Given the description of an element on the screen output the (x, y) to click on. 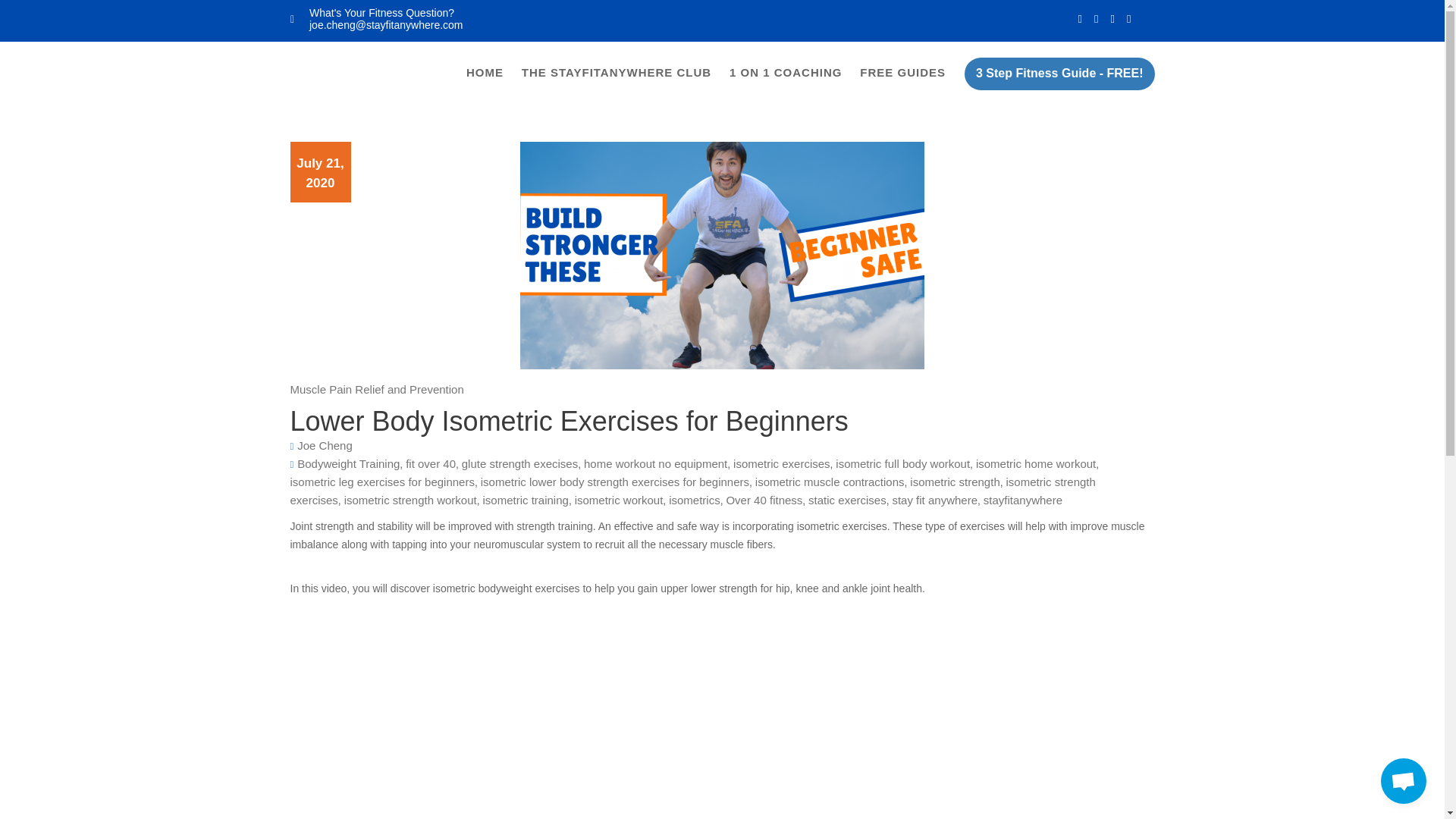
July 21, 2020 (320, 173)
FREE GUIDES (902, 72)
static exercises (847, 499)
isometric strength exercises (691, 490)
Over 40 fitness (763, 499)
isometrics (694, 499)
1 ON 1 COACHING (785, 72)
home workout no equipment (654, 463)
Joe Cheng (324, 445)
THE STAYFITANYWHERE CLUB (616, 72)
isometric exercises (781, 463)
stayfitanywhere (1023, 499)
isometric full body workout (902, 463)
Muscle Pain Relief and Prevention (376, 389)
fit over 40 (430, 463)
